Given the description of an element on the screen output the (x, y) to click on. 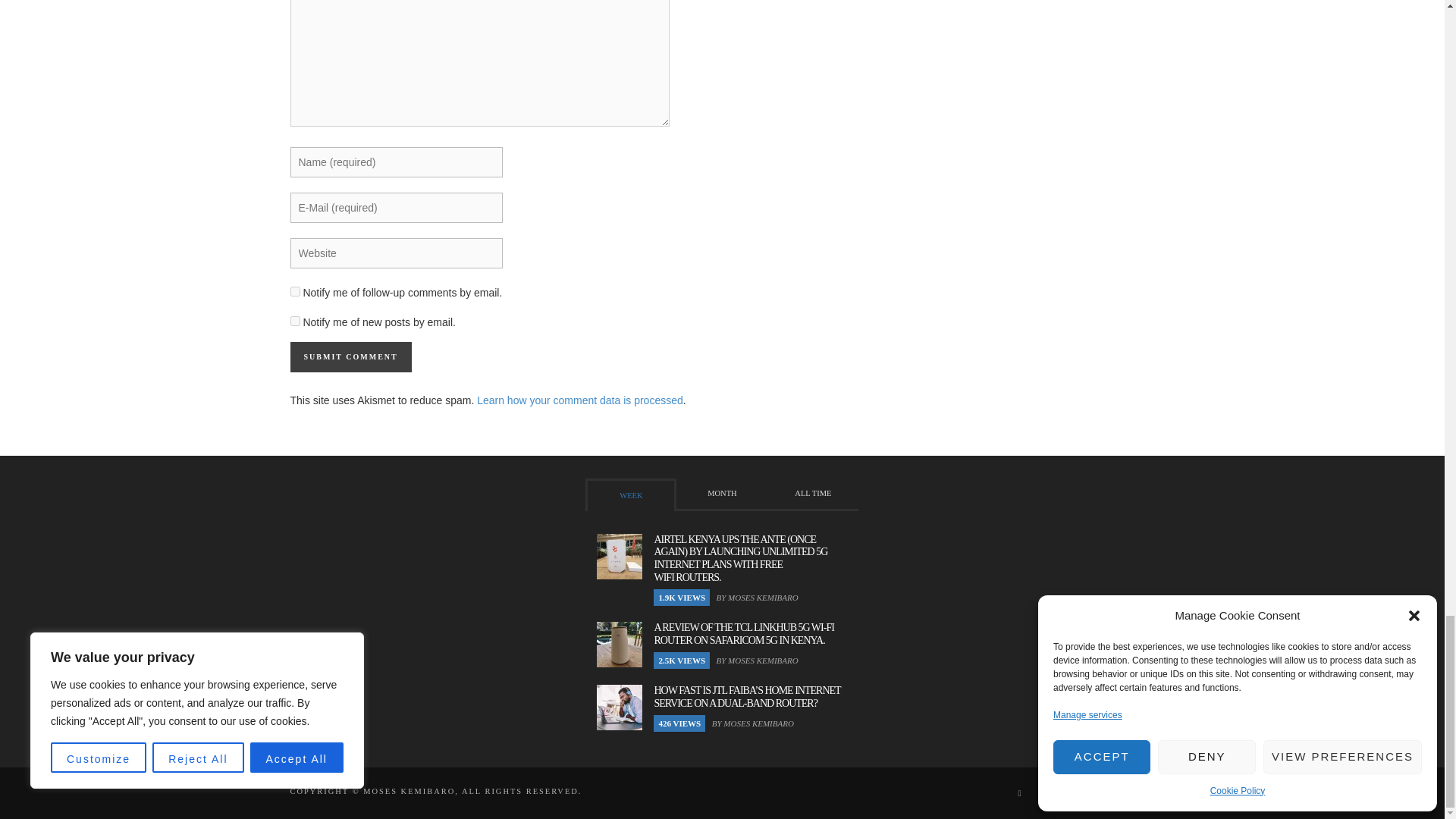
subscribe (294, 291)
subscribe (294, 320)
Submit comment (349, 357)
